Given the description of an element on the screen output the (x, y) to click on. 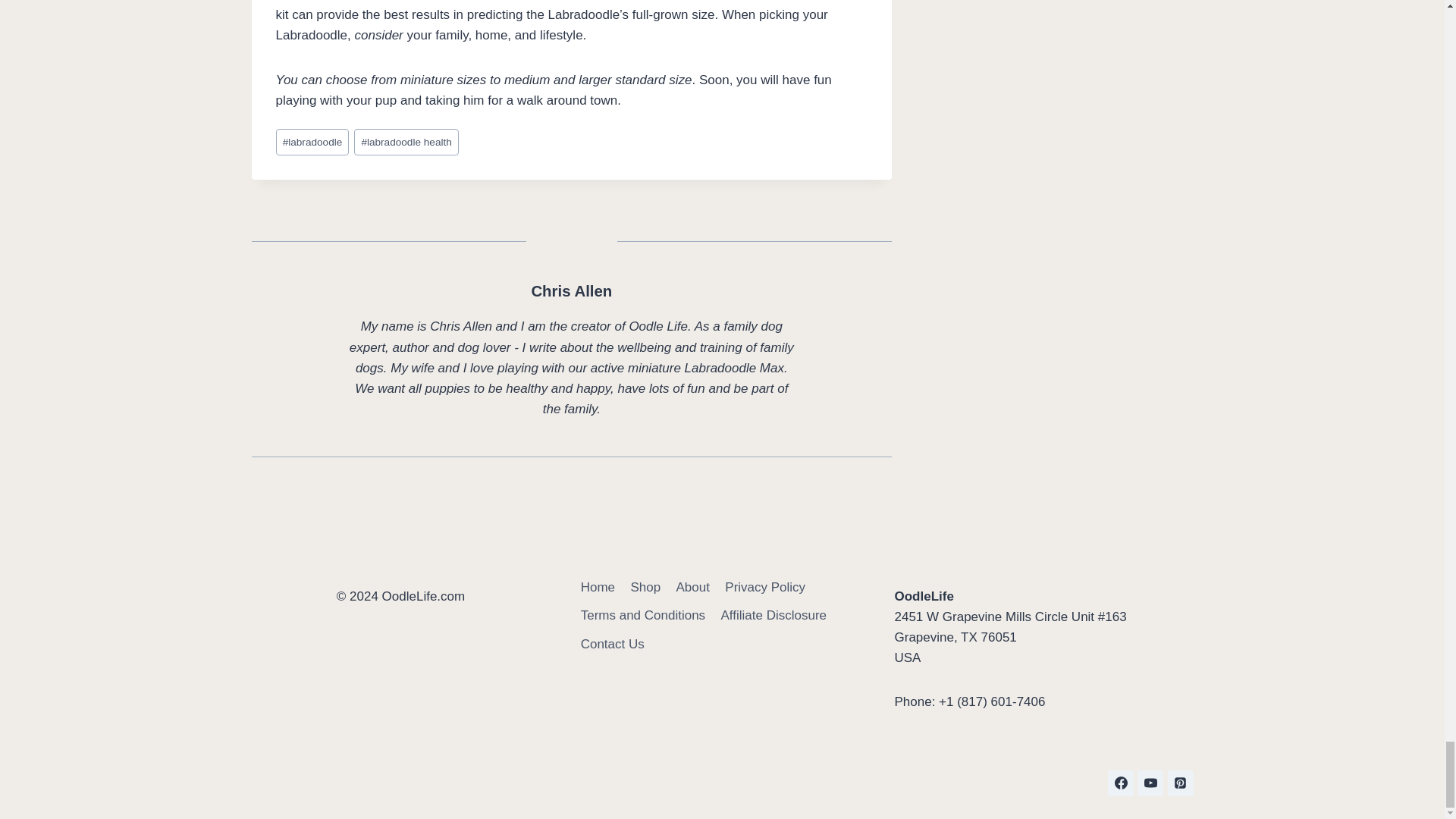
labradoodle health (405, 141)
labradoodle (312, 141)
Posts by Chris Allen (571, 290)
